Given the description of an element on the screen output the (x, y) to click on. 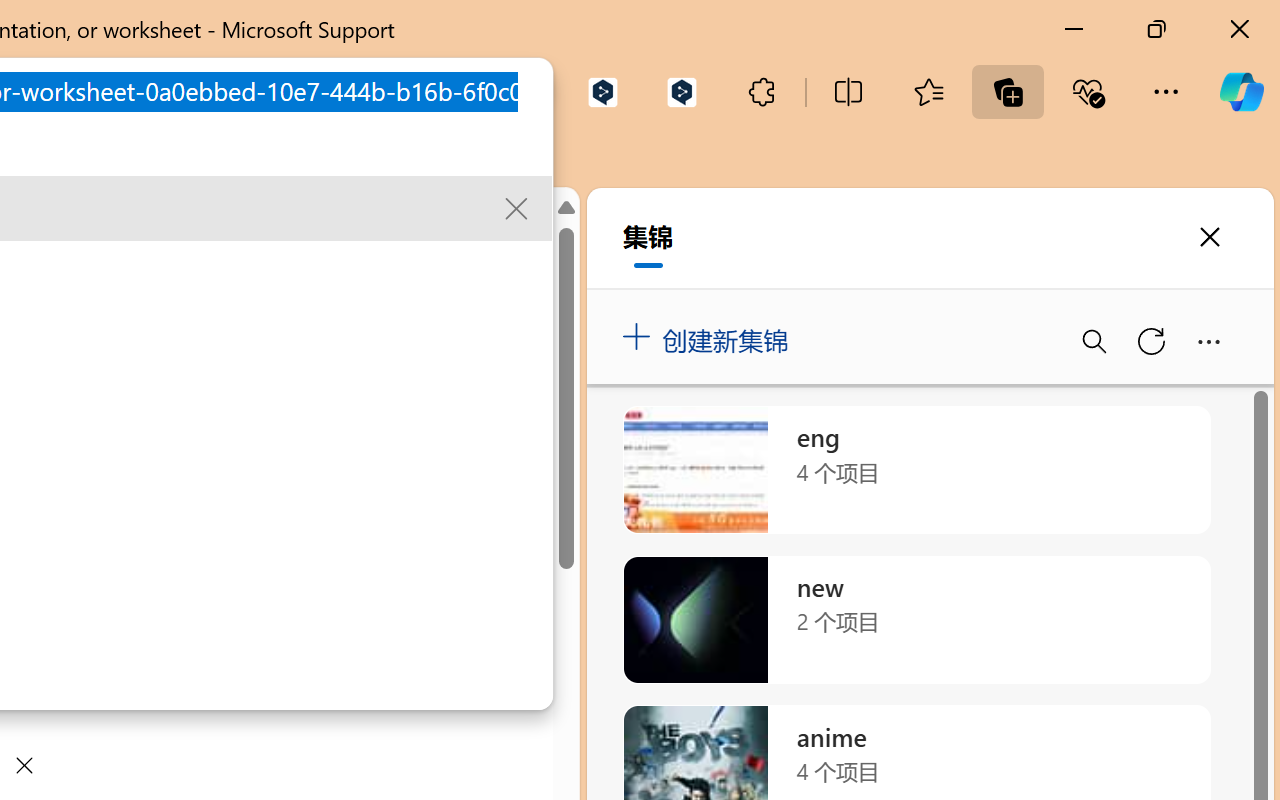
Search for help (378, 232)
Copilot (Ctrl+Shift+.) (1241, 91)
